Given the description of an element on the screen output the (x, y) to click on. 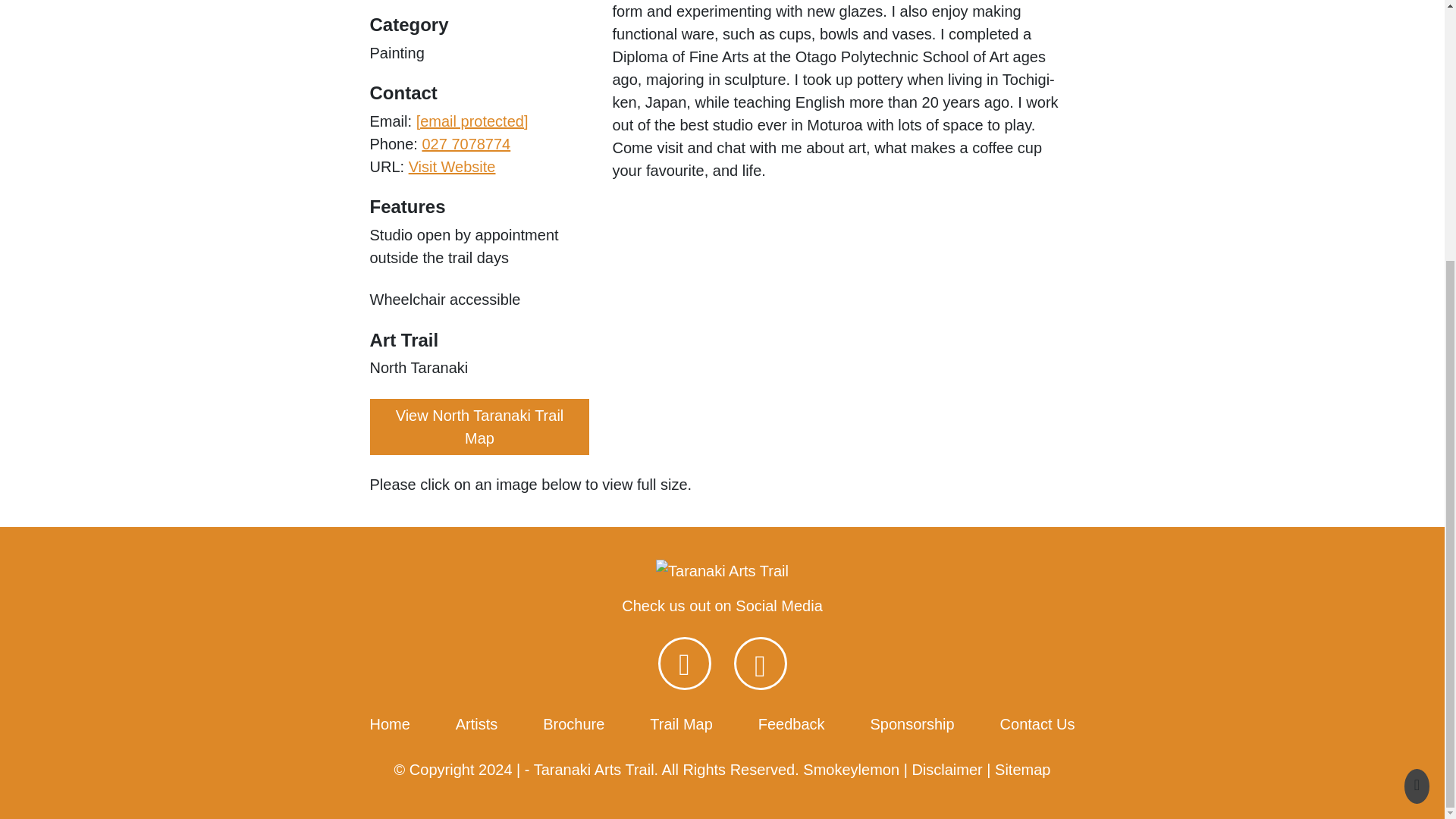
Artists (476, 723)
Smokeylemon (851, 769)
Disclaimer (946, 769)
Brochure (573, 723)
View North Taranaki Trail Map (479, 426)
Sitemap (1021, 769)
Disclaimer (946, 769)
Visit Website (452, 166)
Trail Map (681, 723)
Follow us on Facebook (684, 663)
